Given the description of an element on the screen output the (x, y) to click on. 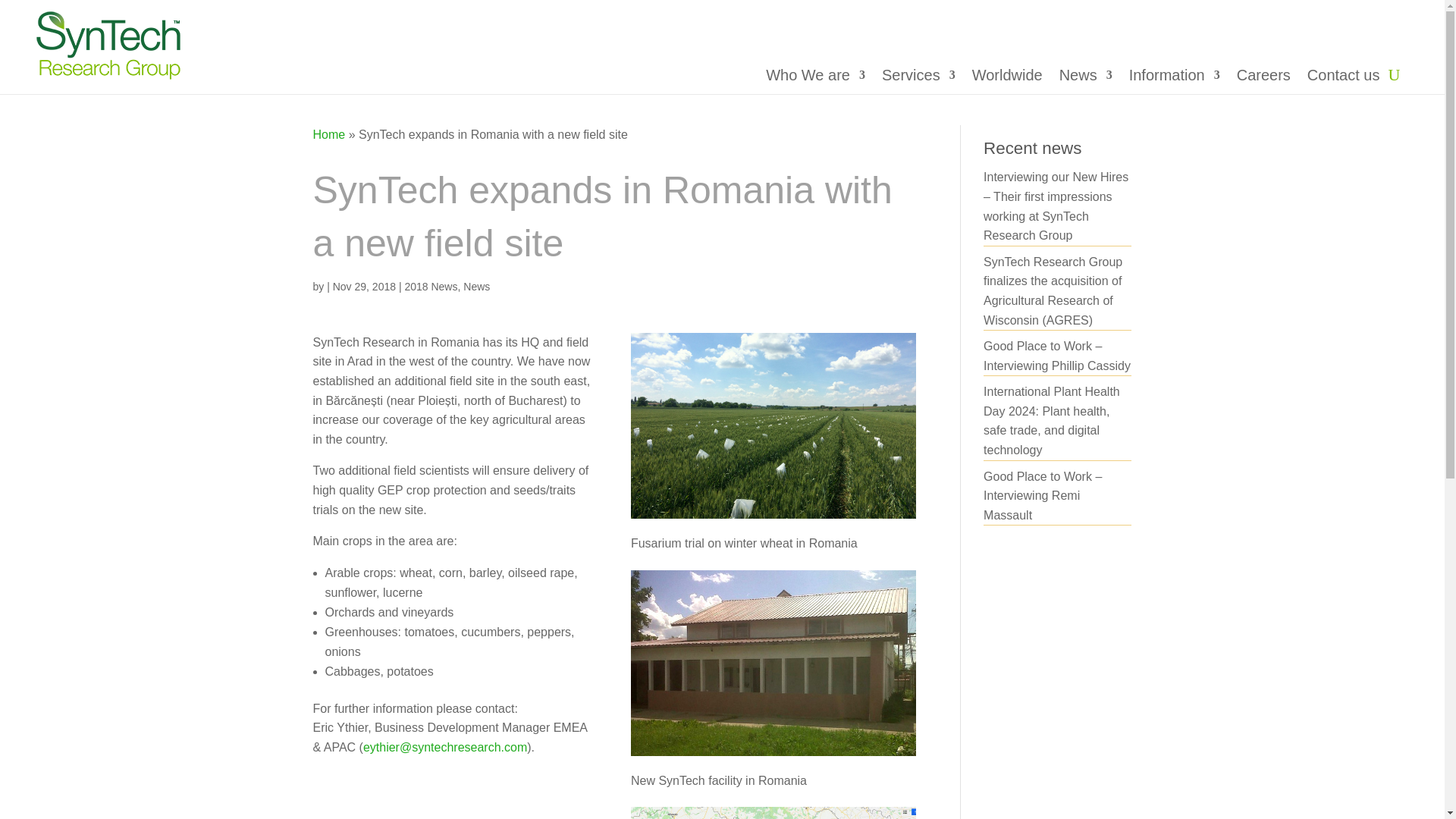
Who We are (814, 77)
Services (918, 77)
Worldwide (1007, 77)
News (1085, 77)
SynTech-Research-TM-Group-Logo-2 (108, 45)
